Given the description of an element on the screen output the (x, y) to click on. 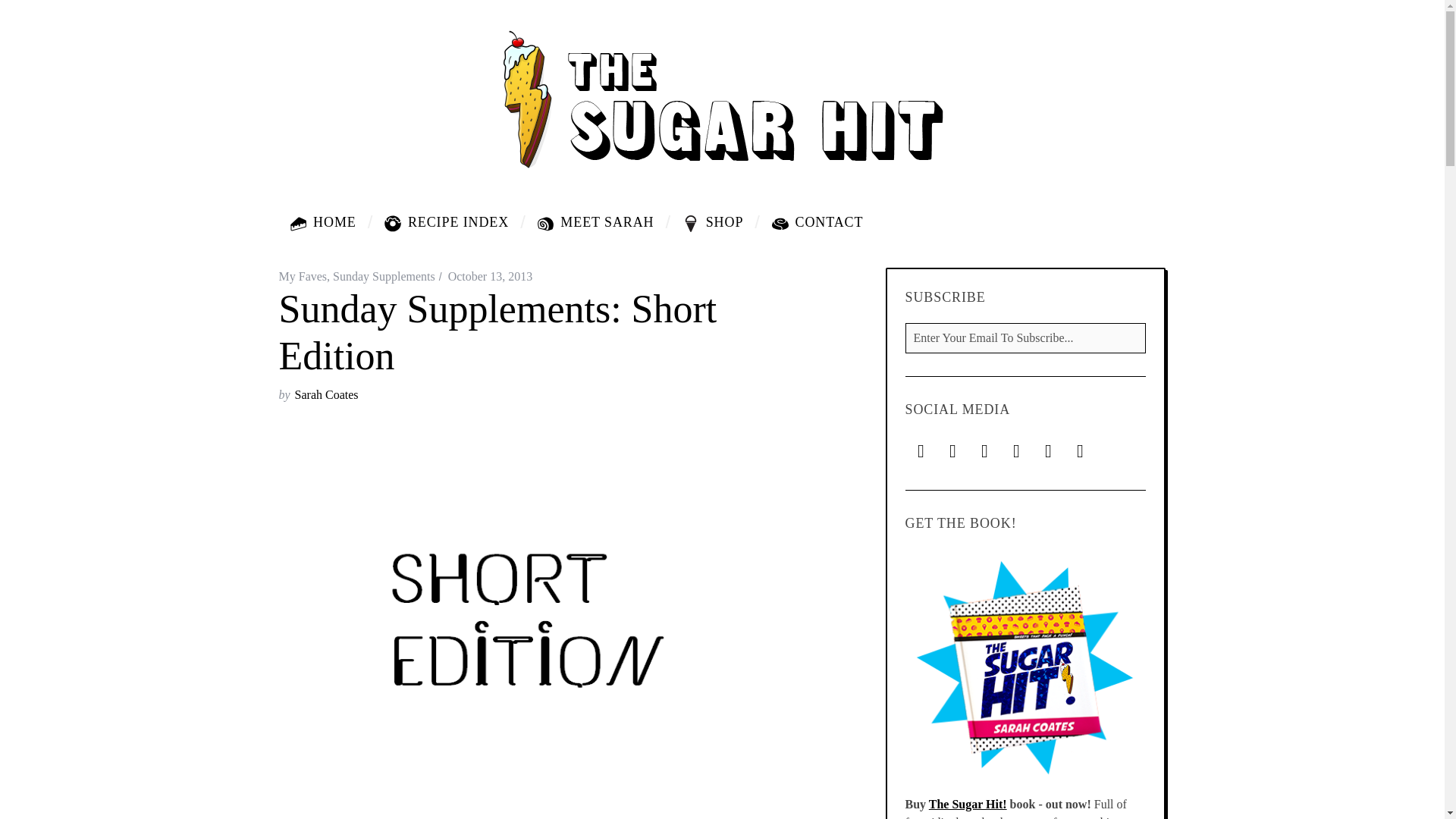
CONTACT (811, 221)
MEET SARAH (598, 221)
SHOP (715, 221)
Enter Your Email To Subscribe... (1026, 337)
